Given the description of an element on the screen output the (x, y) to click on. 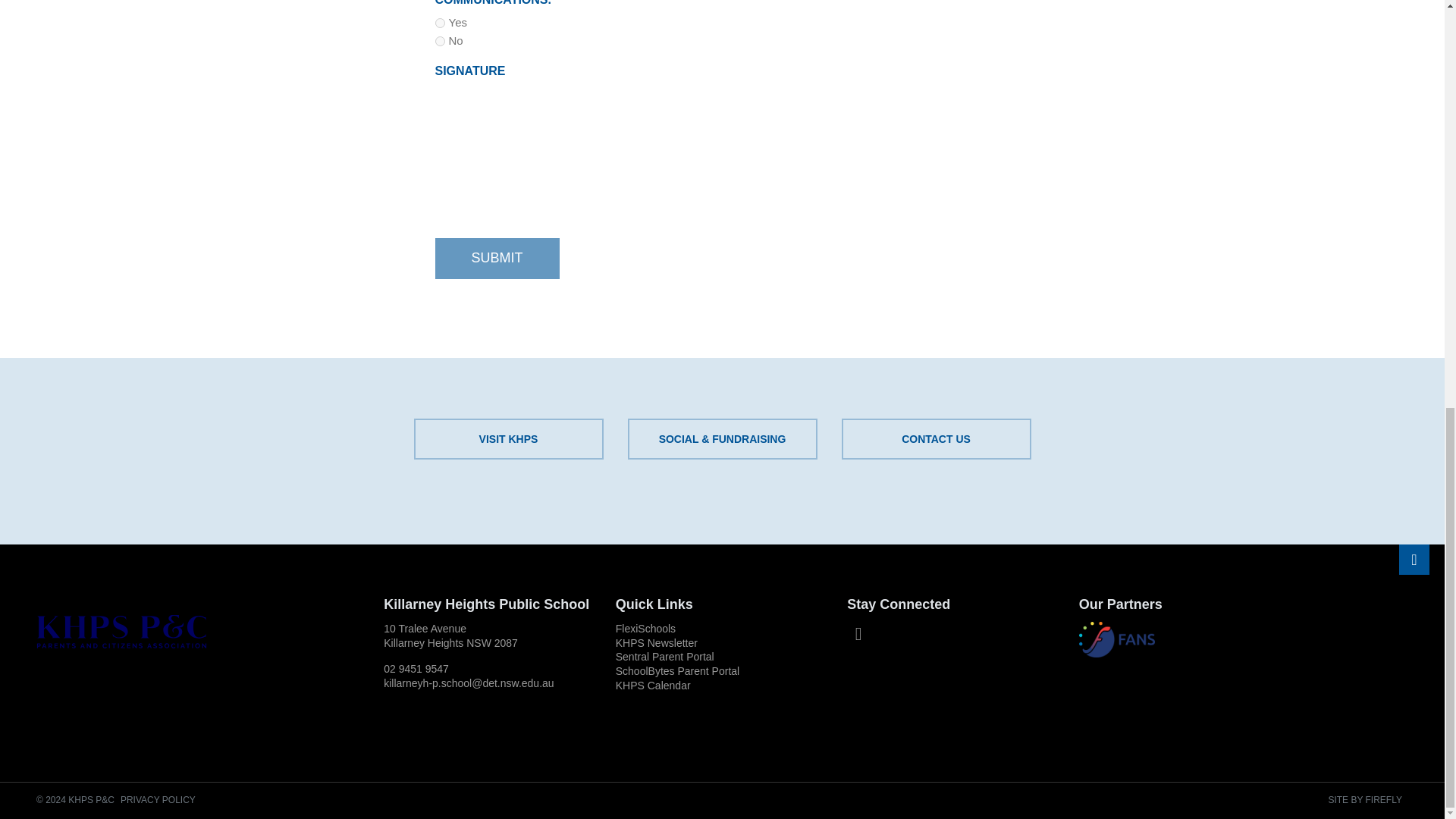
back to top (1414, 559)
Website design by Firefly Digital (1364, 799)
Yes (440, 22)
No (440, 40)
Submit (497, 258)
